Given the description of an element on the screen output the (x, y) to click on. 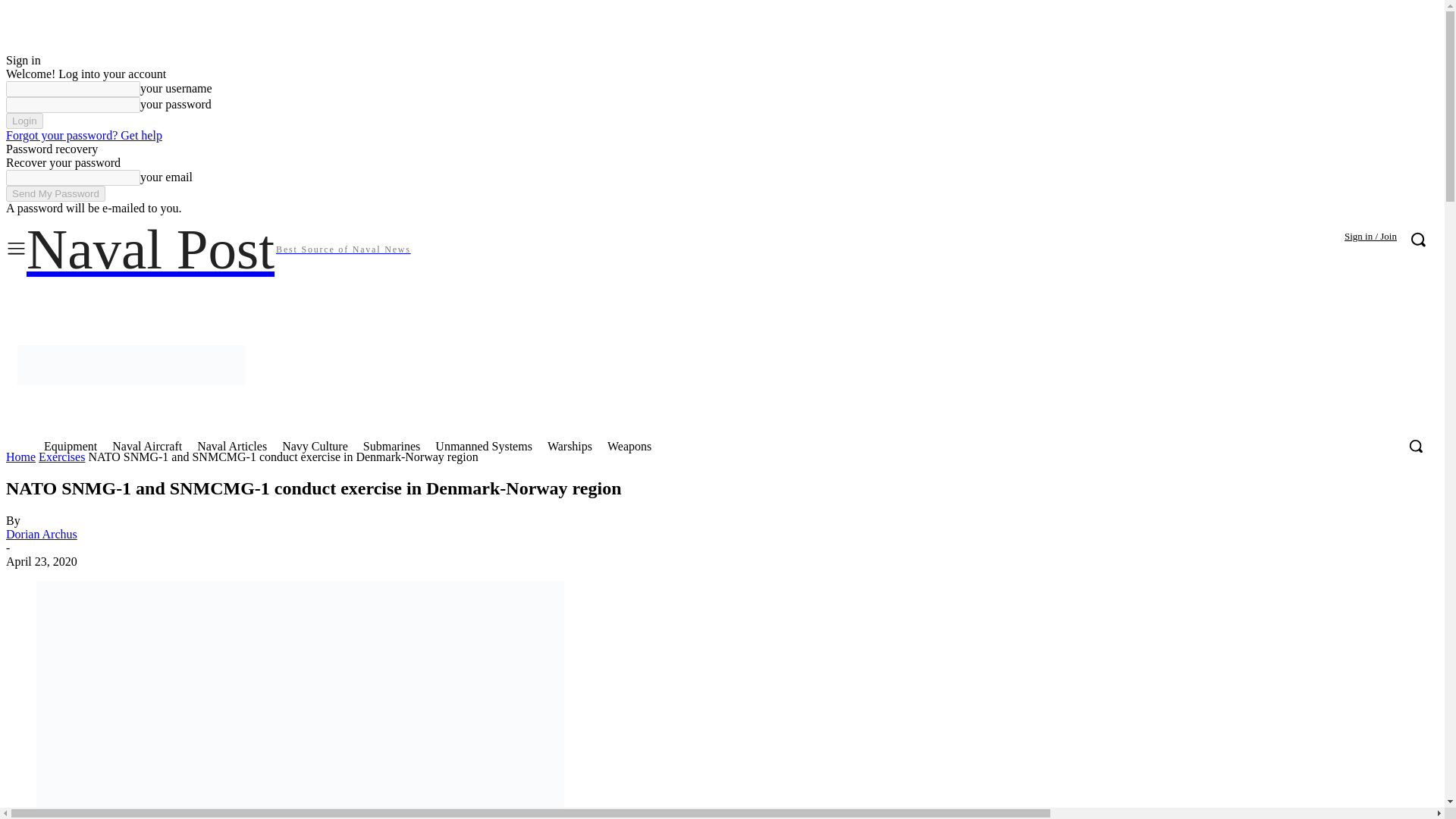
Equipment (70, 446)
Pinterest (1230, 297)
Unmanned Systems (484, 446)
Instagram (1135, 297)
Navy Culture (315, 446)
Warships (569, 446)
Linkedin (1166, 297)
Send My Password (54, 193)
Naval Articles (232, 446)
Submarines (391, 446)
